Given the description of an element on the screen output the (x, y) to click on. 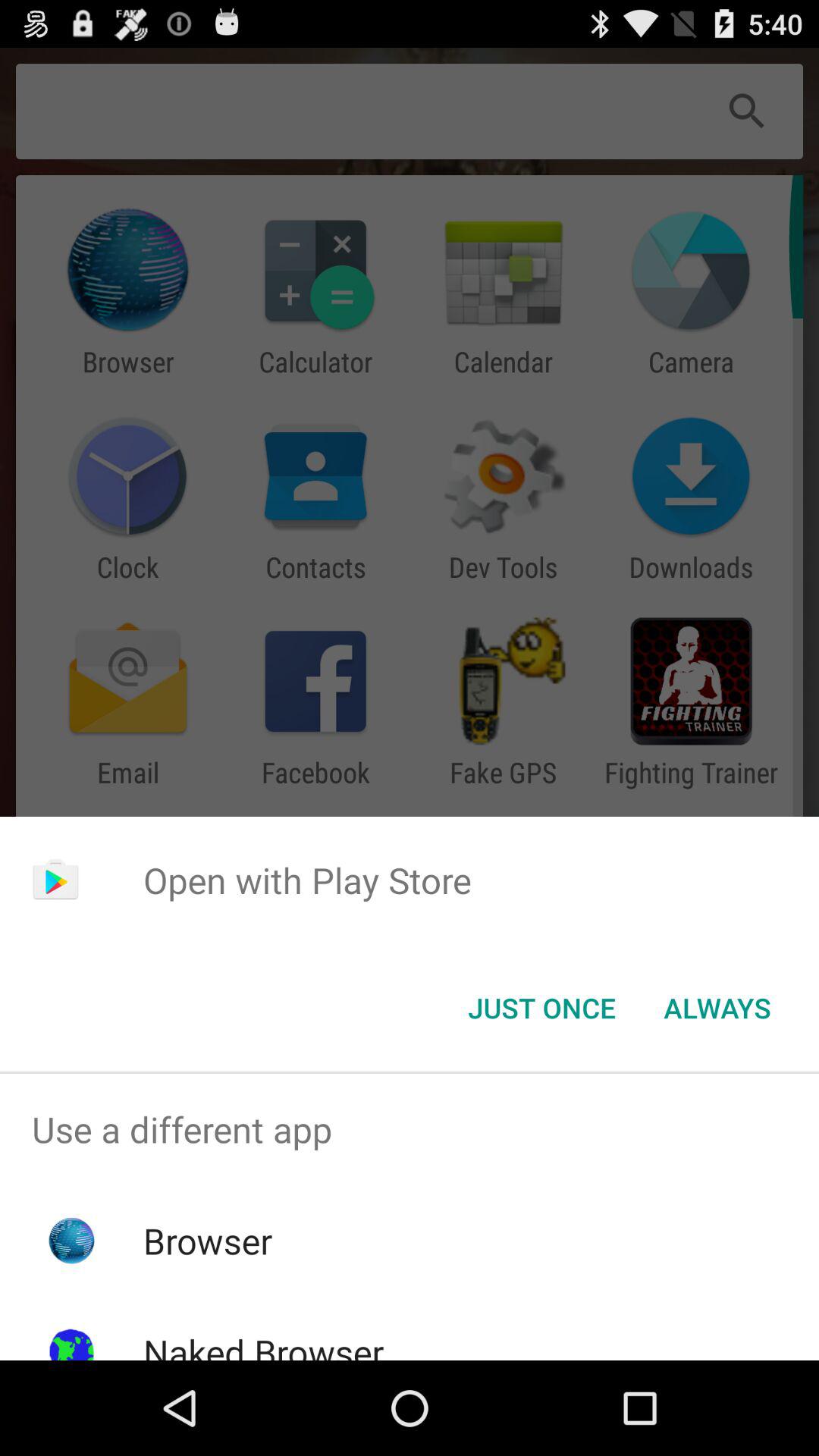
turn off the button next to always (541, 1007)
